Given the description of an element on the screen output the (x, y) to click on. 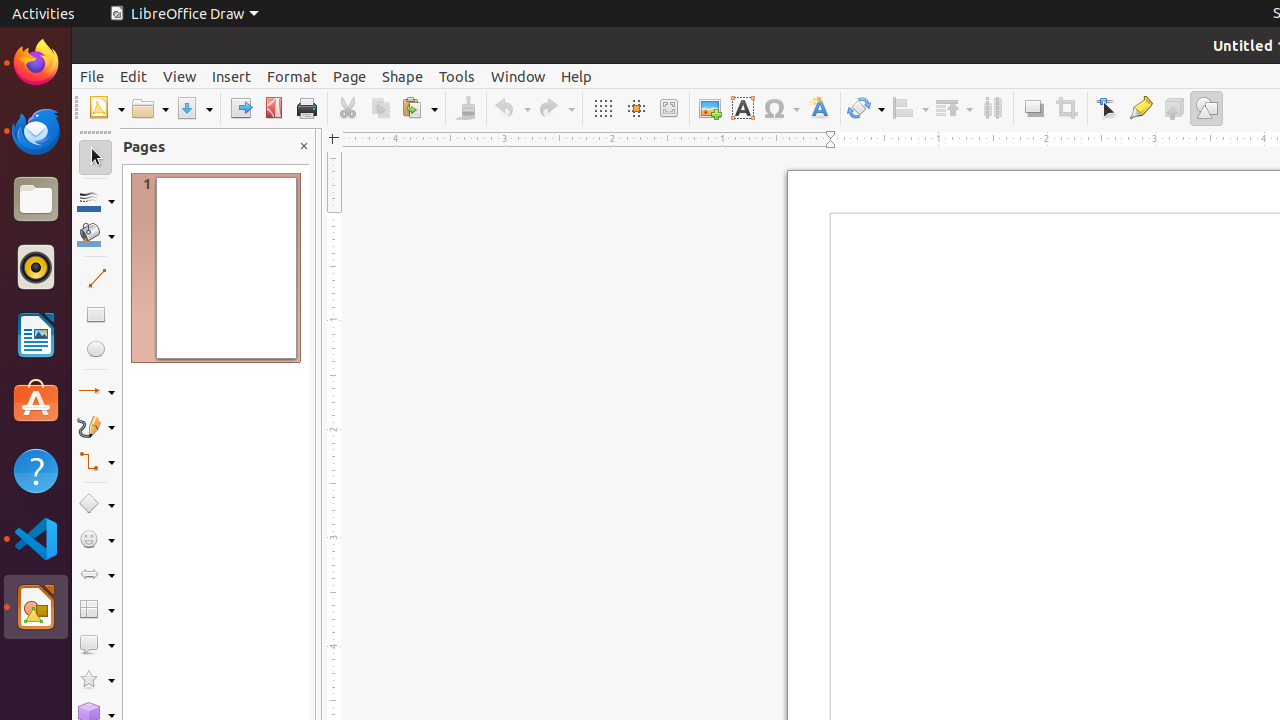
Crop Element type: push-button (1066, 108)
Tools Element type: menu (457, 76)
PDF Element type: push-button (273, 108)
Symbol Shapes Element type: push-button (96, 539)
Window Element type: menu (518, 76)
